Given the description of an element on the screen output the (x, y) to click on. 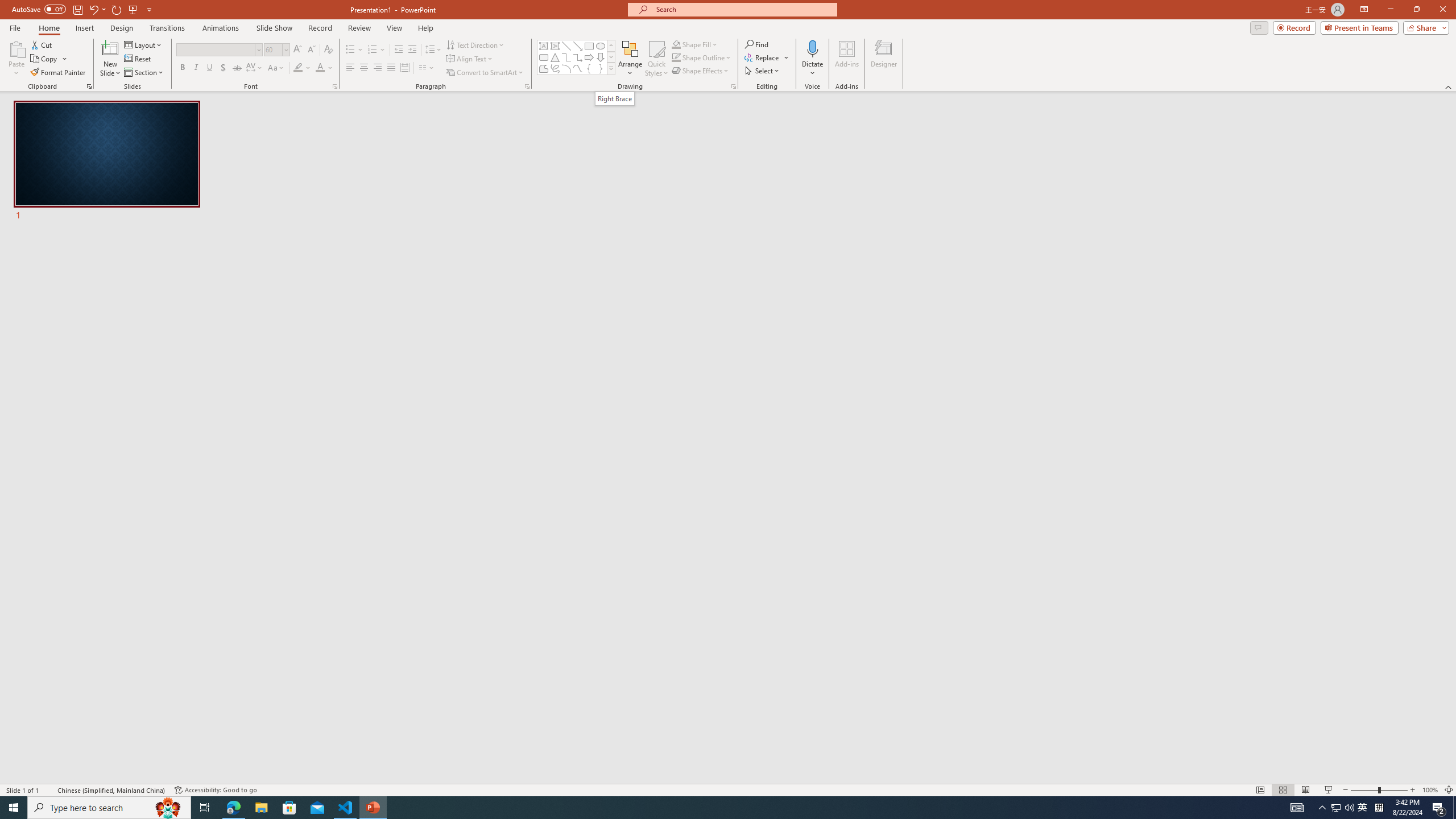
Shape Outline (701, 56)
Text Highlight Color Yellow (297, 67)
Section (144, 72)
